Given the description of an element on the screen output the (x, y) to click on. 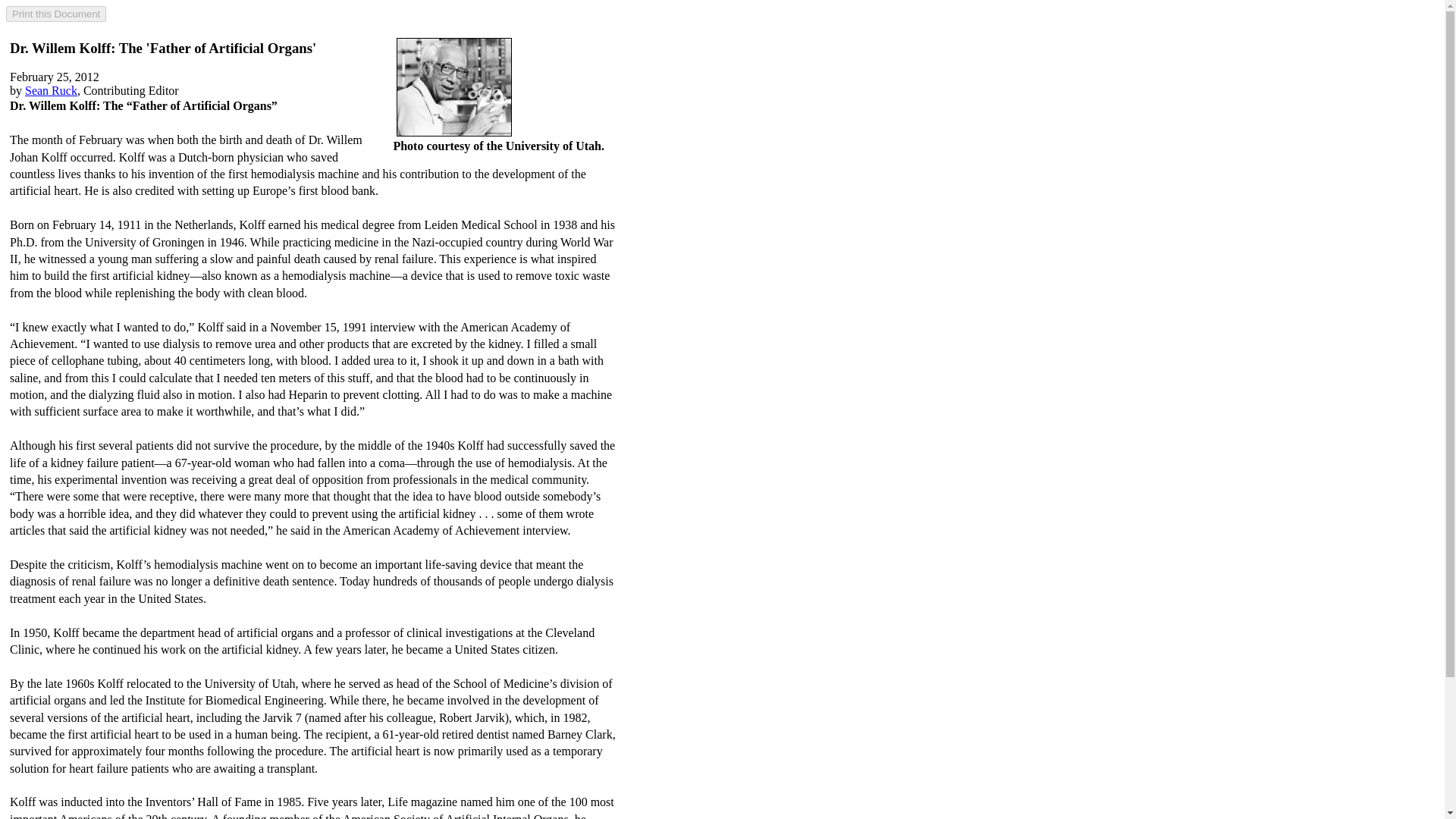
More News from Sean Ruck (50, 90)
Sean Ruck (50, 90)
Print this Document (55, 13)
